Given the description of an element on the screen output the (x, y) to click on. 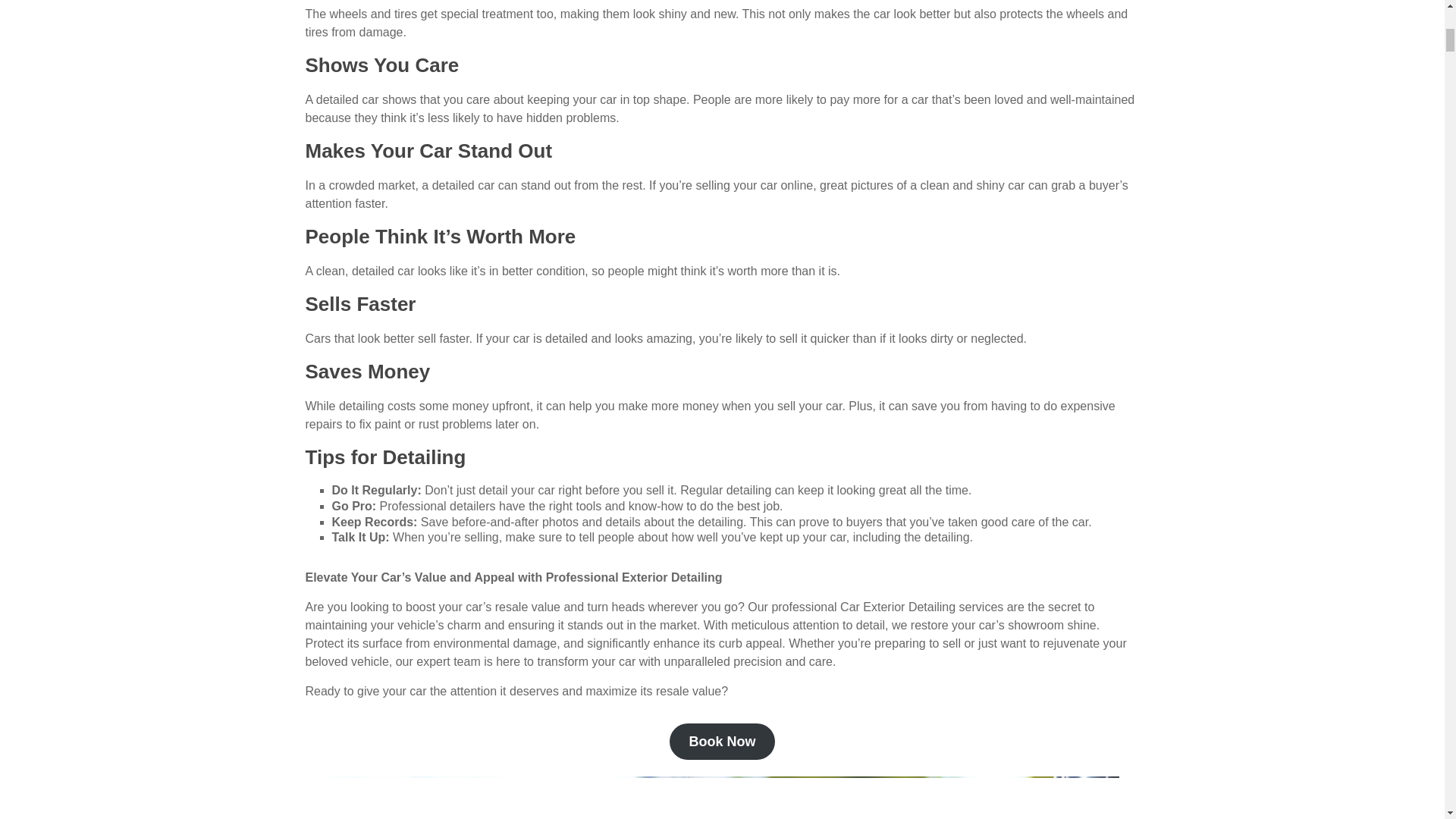
Book Now (722, 741)
